Given the description of an element on the screen output the (x, y) to click on. 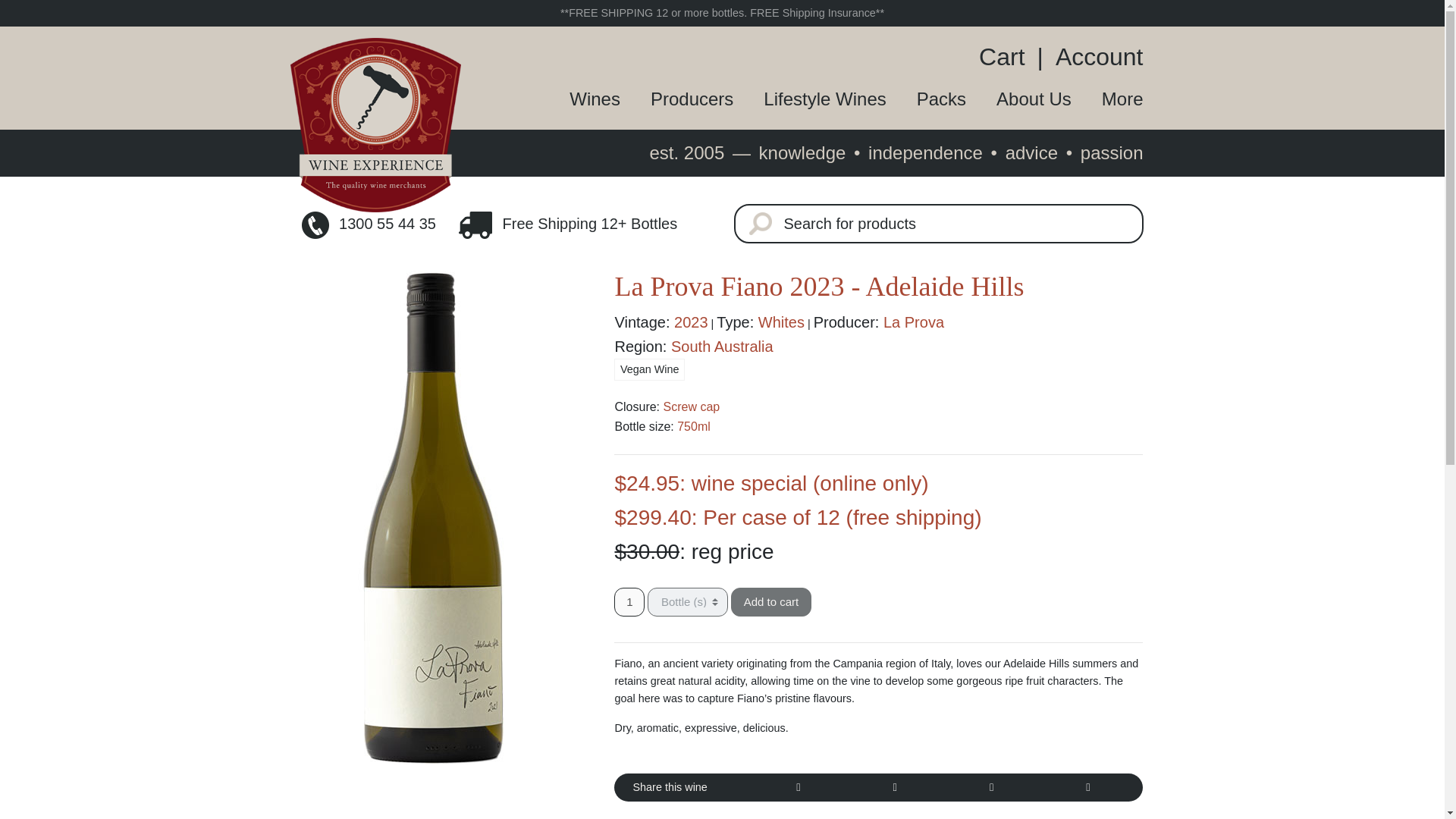
Cart (1007, 56)
Wines (579, 98)
Add to cart (771, 602)
Account (1092, 56)
1 (629, 602)
